Given the description of an element on the screen output the (x, y) to click on. 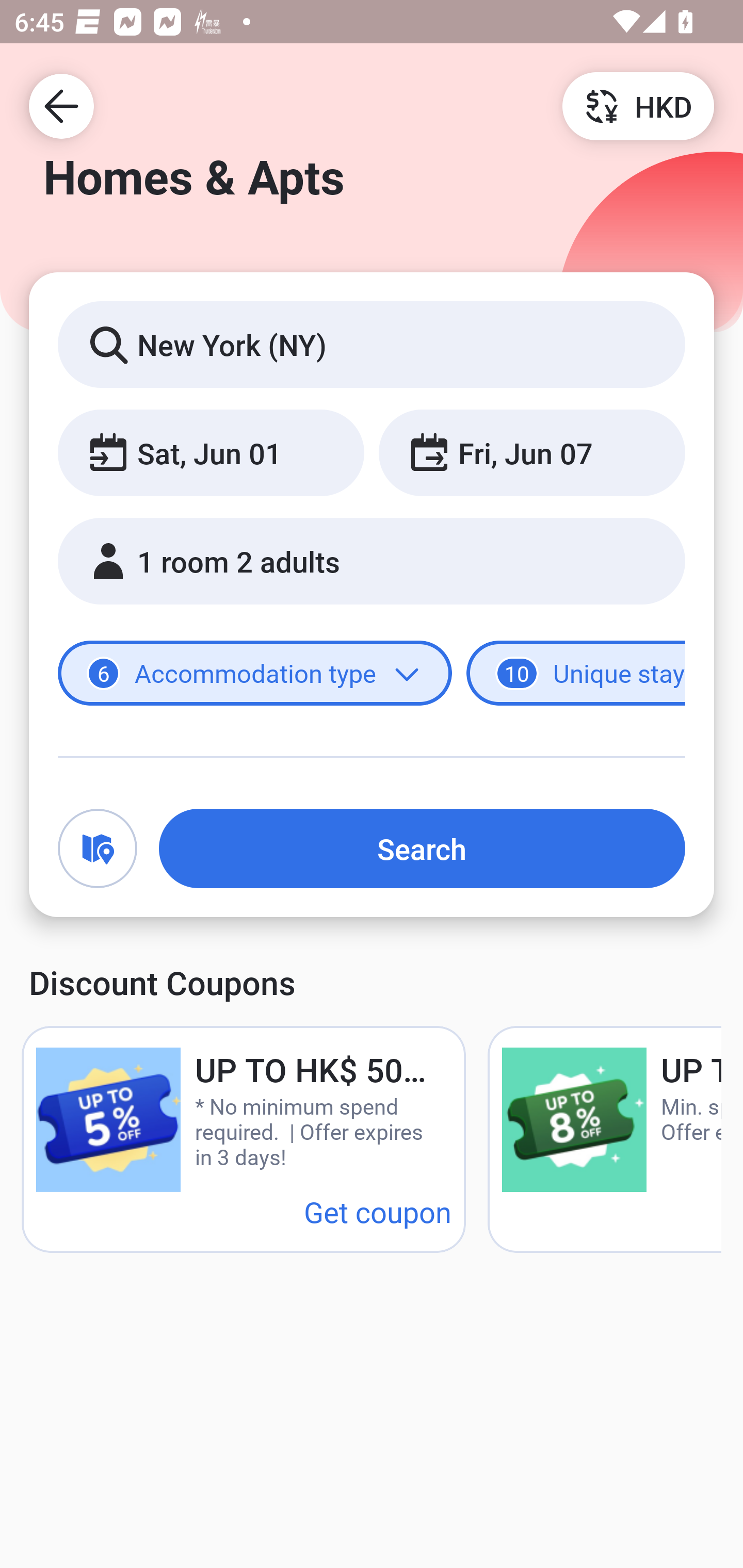
HKD (638, 105)
New York (NY) (371, 344)
Sat, Jun 01 (210, 452)
Fri, Jun 07 (531, 452)
1 room 2 adults (371, 561)
6 Accommodation type (254, 673)
10 Unique stays (575, 673)
Search (422, 848)
Get coupon (377, 1211)
